Given the description of an element on the screen output the (x, y) to click on. 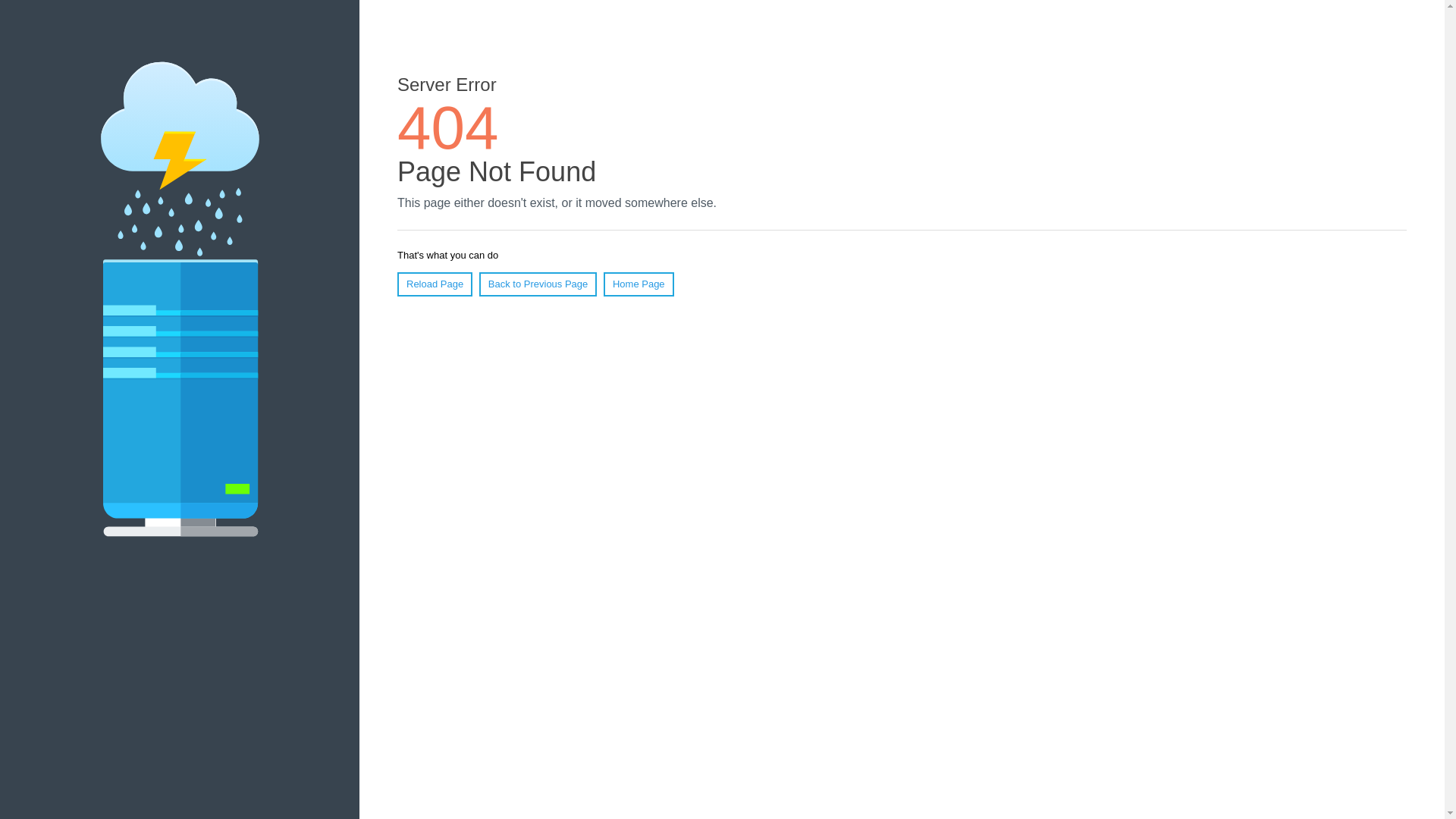
Reload Page Element type: text (434, 284)
Back to Previous Page Element type: text (538, 284)
Home Page Element type: text (638, 284)
